Given the description of an element on the screen output the (x, y) to click on. 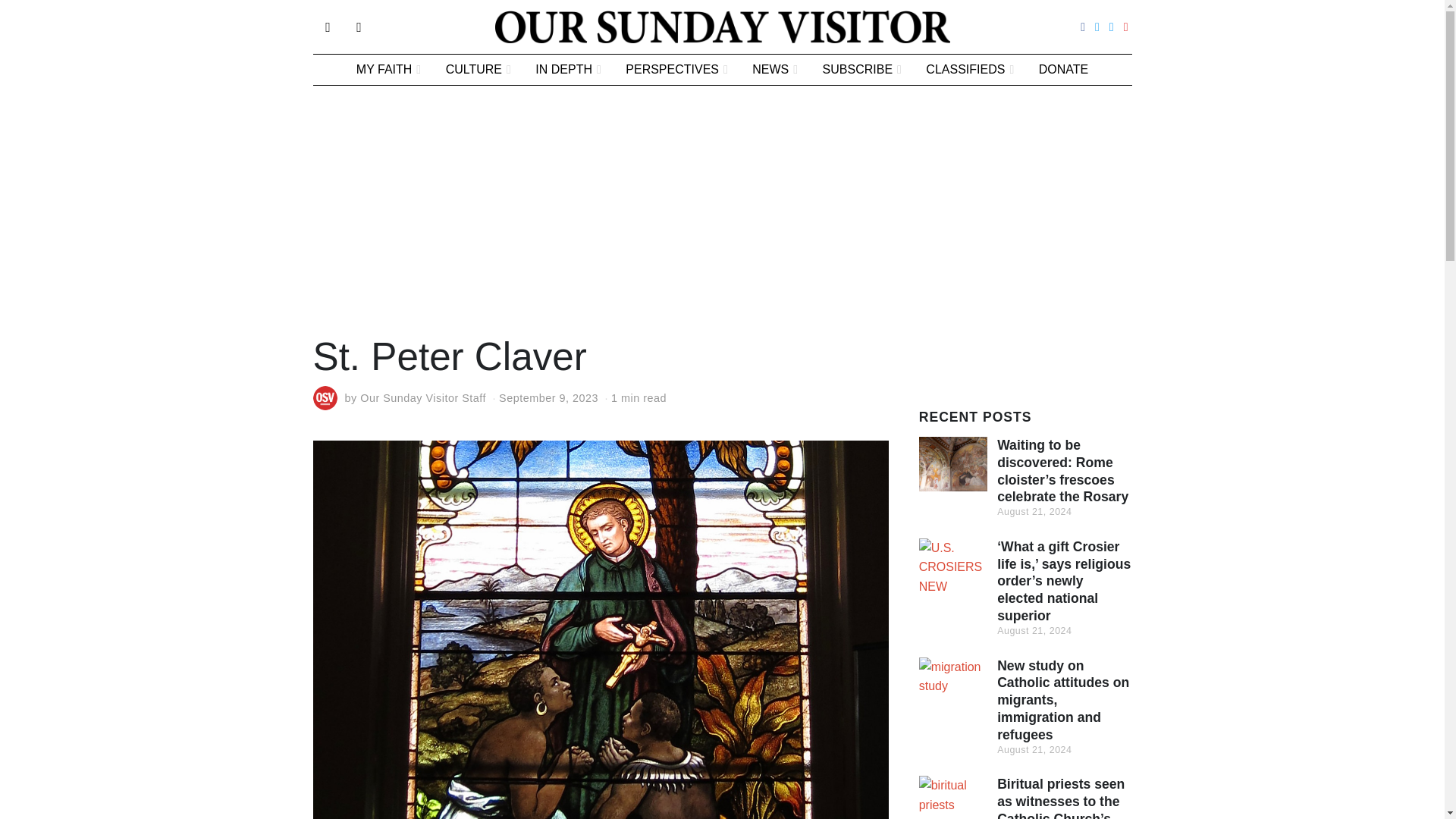
Our Sunday Visitor Staff (422, 398)
PERSPECTIVES (676, 69)
NEWS (774, 69)
CULTURE (478, 69)
MY FAITH (388, 69)
IN DEPTH (567, 69)
SUBSCRIBE (862, 69)
DONATE (1063, 69)
CLASSIFIEDS (970, 69)
